Given the description of an element on the screen output the (x, y) to click on. 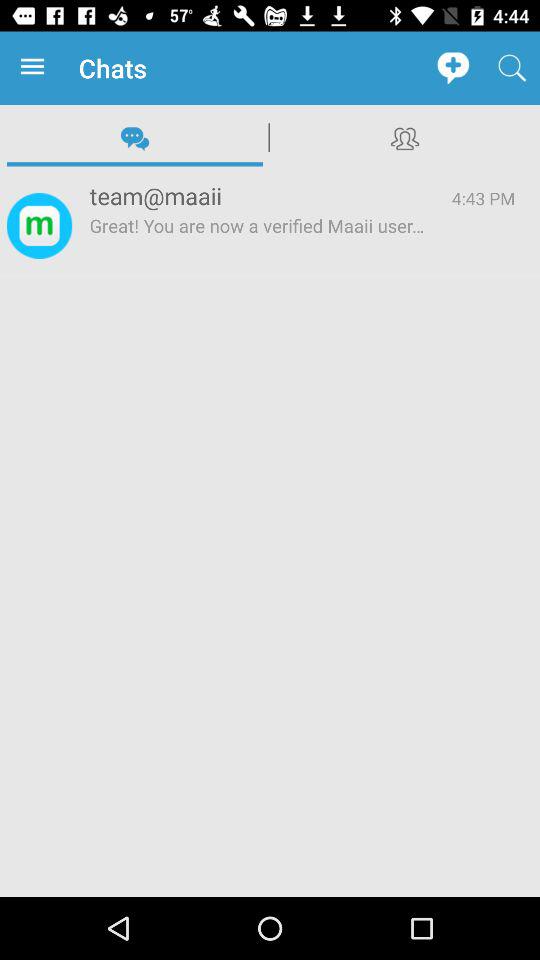
open item next to 4:43 pm app (258, 195)
